Given the description of an element on the screen output the (x, y) to click on. 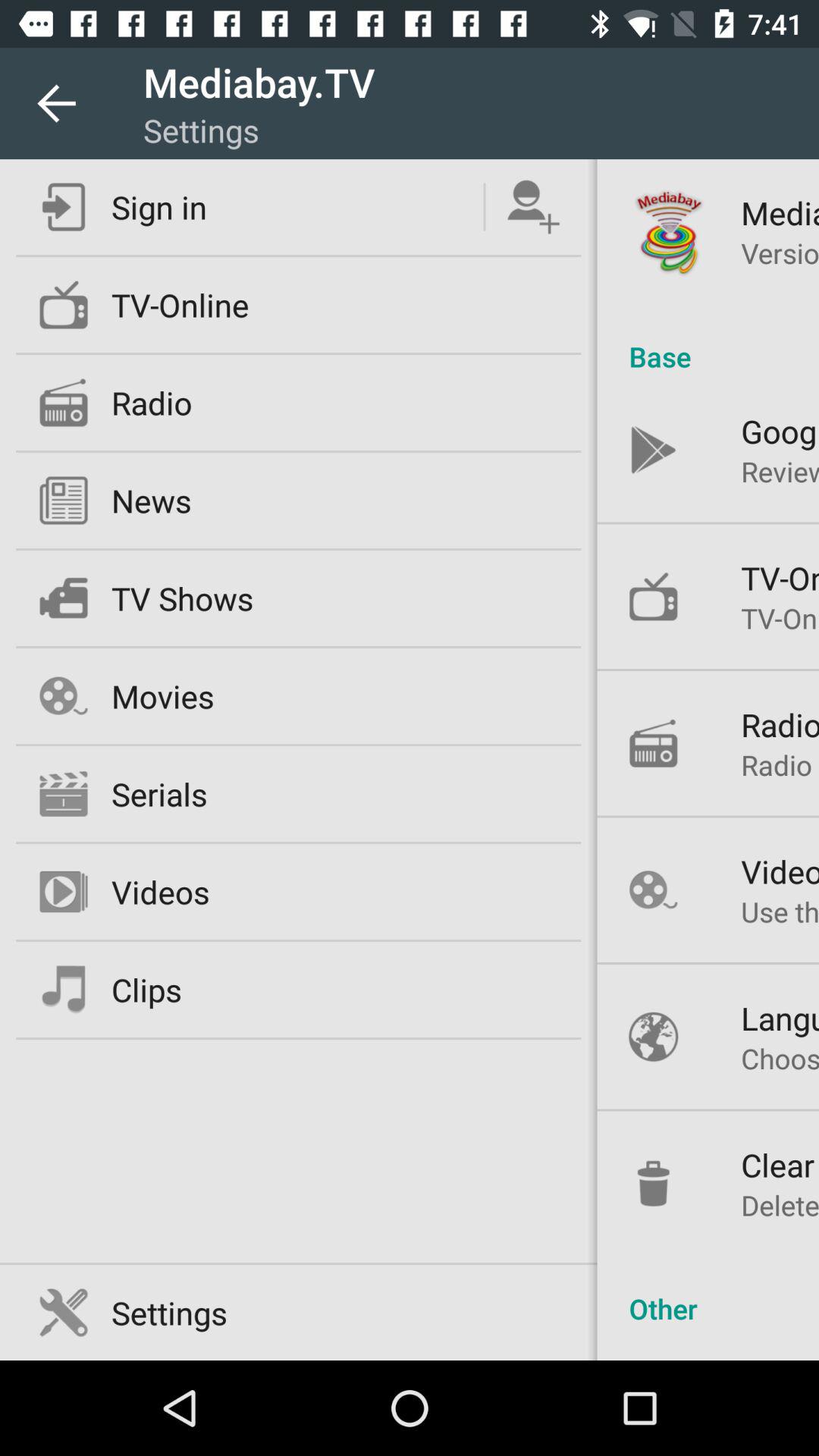
swipe until the version 1 2 icon (780, 252)
